Given the description of an element on the screen output the (x, y) to click on. 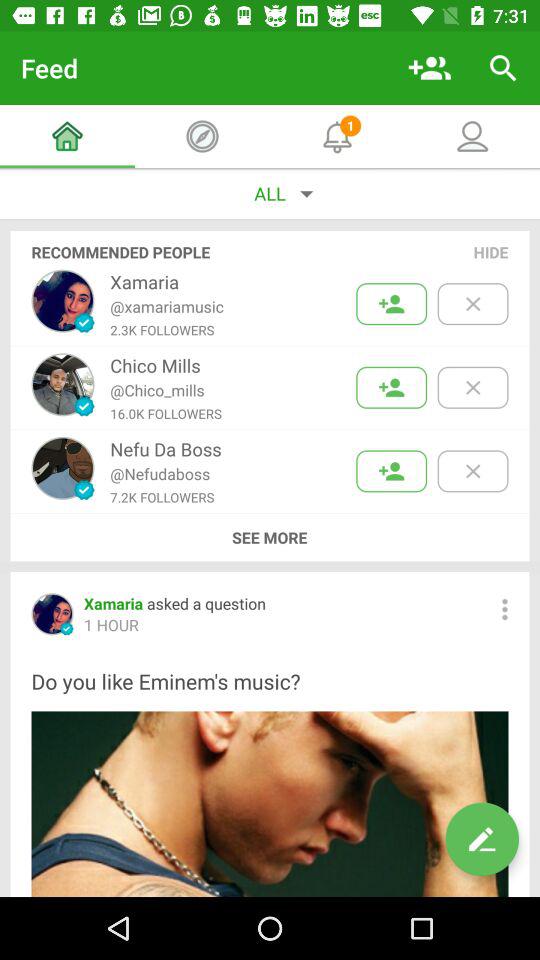
because back devicer (472, 471)
